Given the description of an element on the screen output the (x, y) to click on. 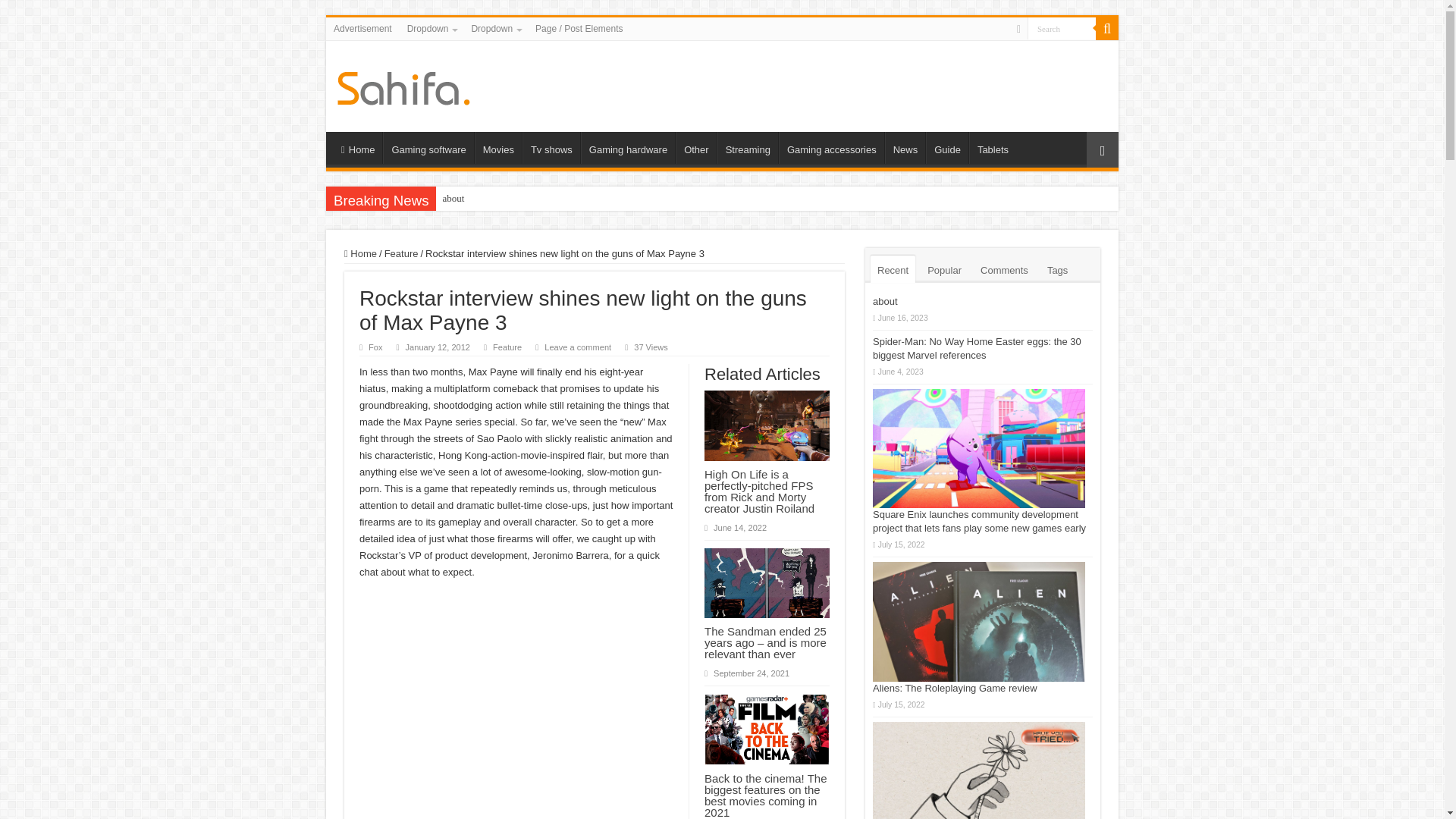
Search (1061, 28)
Gaming accessories (830, 147)
Streaming (747, 147)
Advertisement (362, 28)
Search (1061, 28)
Gaming software (427, 147)
Gaming hardware (627, 147)
about (452, 198)
Search (1061, 28)
Home (357, 147)
